Given the description of an element on the screen output the (x, y) to click on. 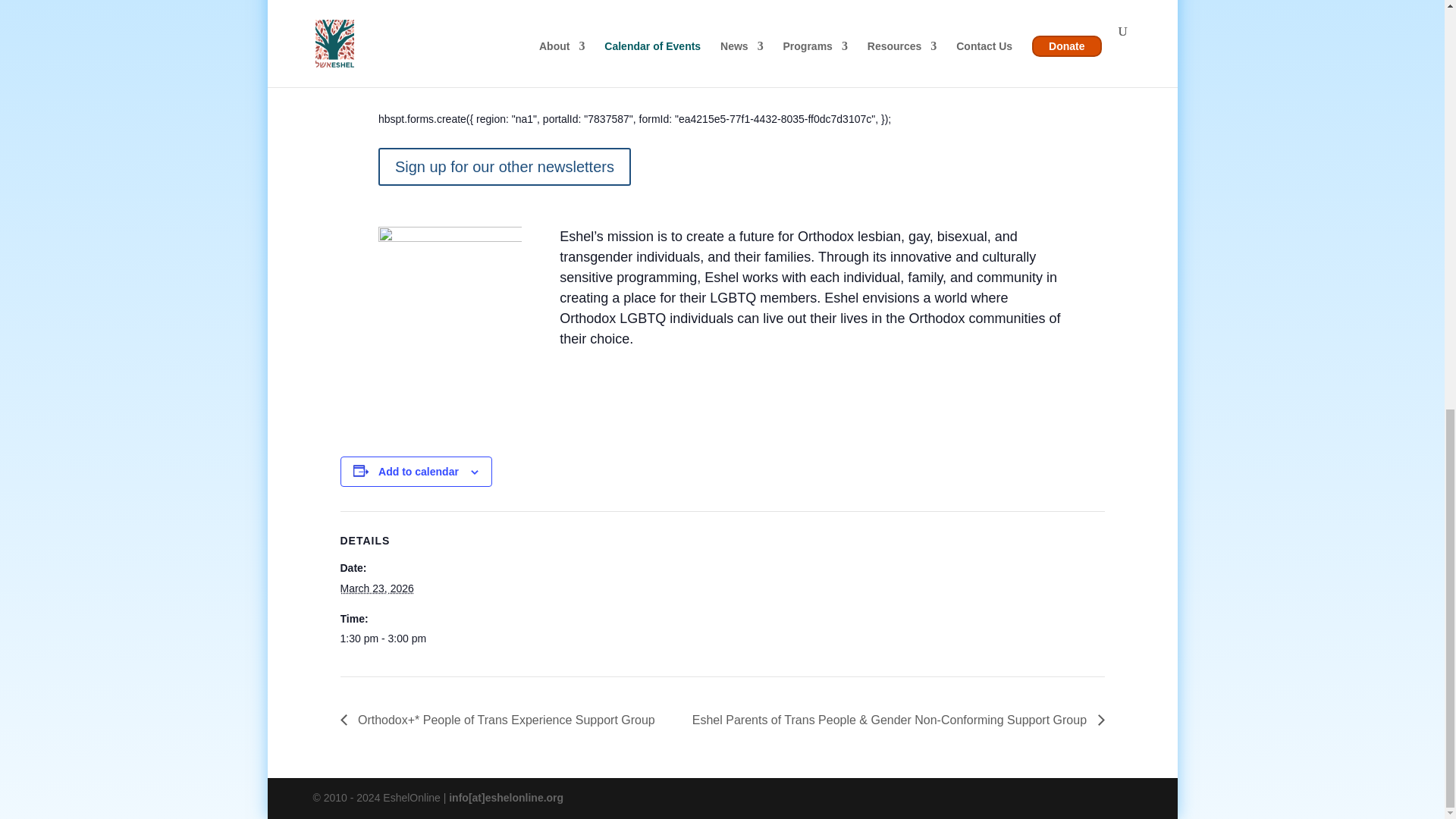
2026-03-23 (403, 638)
eshel-logo (449, 278)
Add to calendar (418, 471)
Sign up for our other newsletters (504, 166)
2026-03-23 (376, 588)
